Given the description of an element on the screen output the (x, y) to click on. 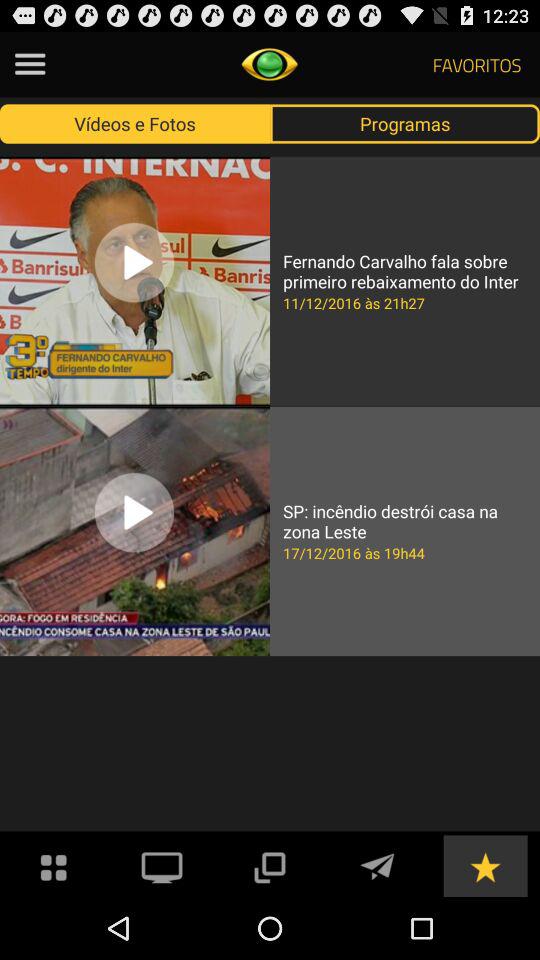
icon view (54, 865)
